Given the description of an element on the screen output the (x, y) to click on. 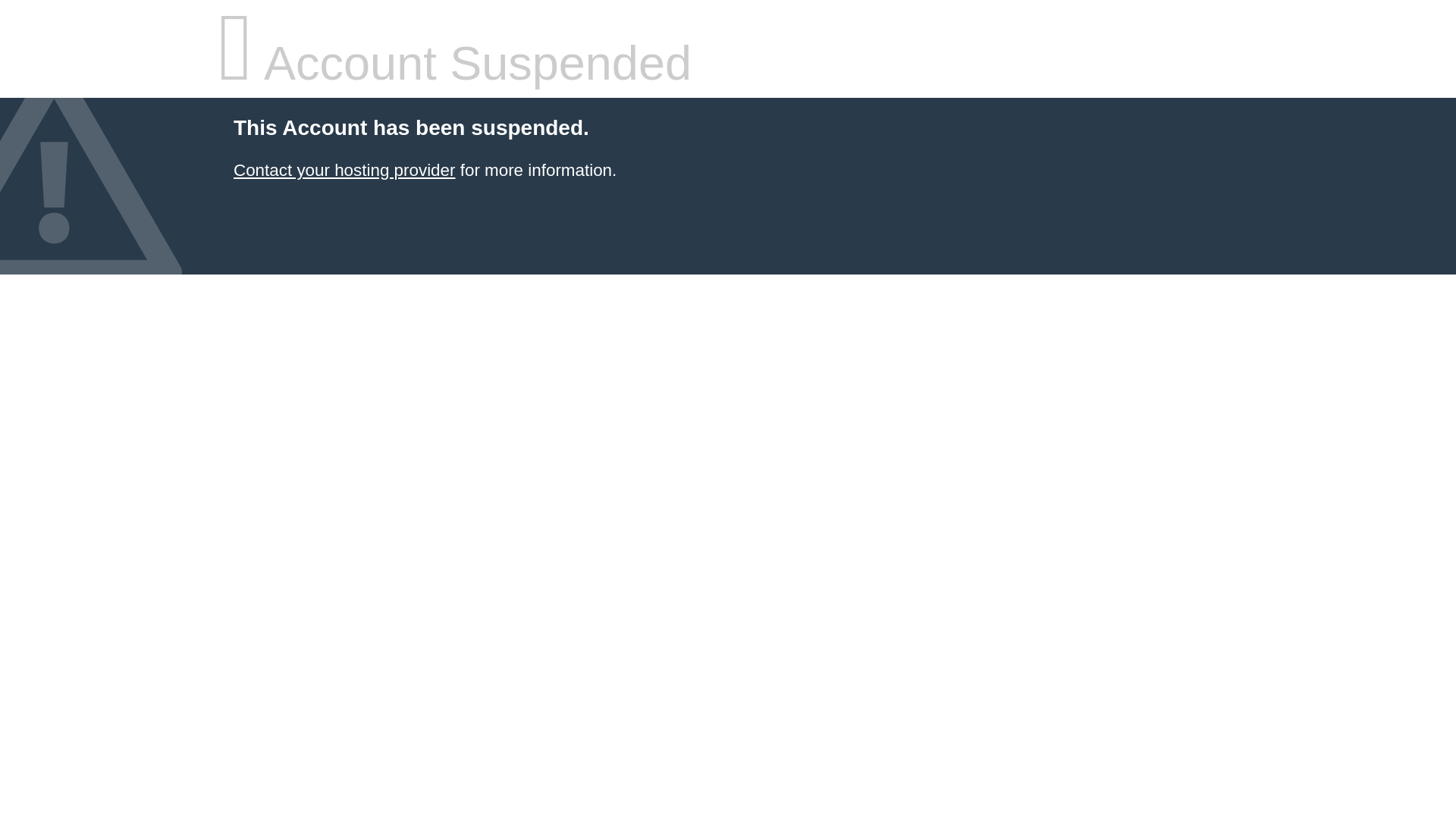
Contact your hosting provider (343, 169)
